Given the description of an element on the screen output the (x, y) to click on. 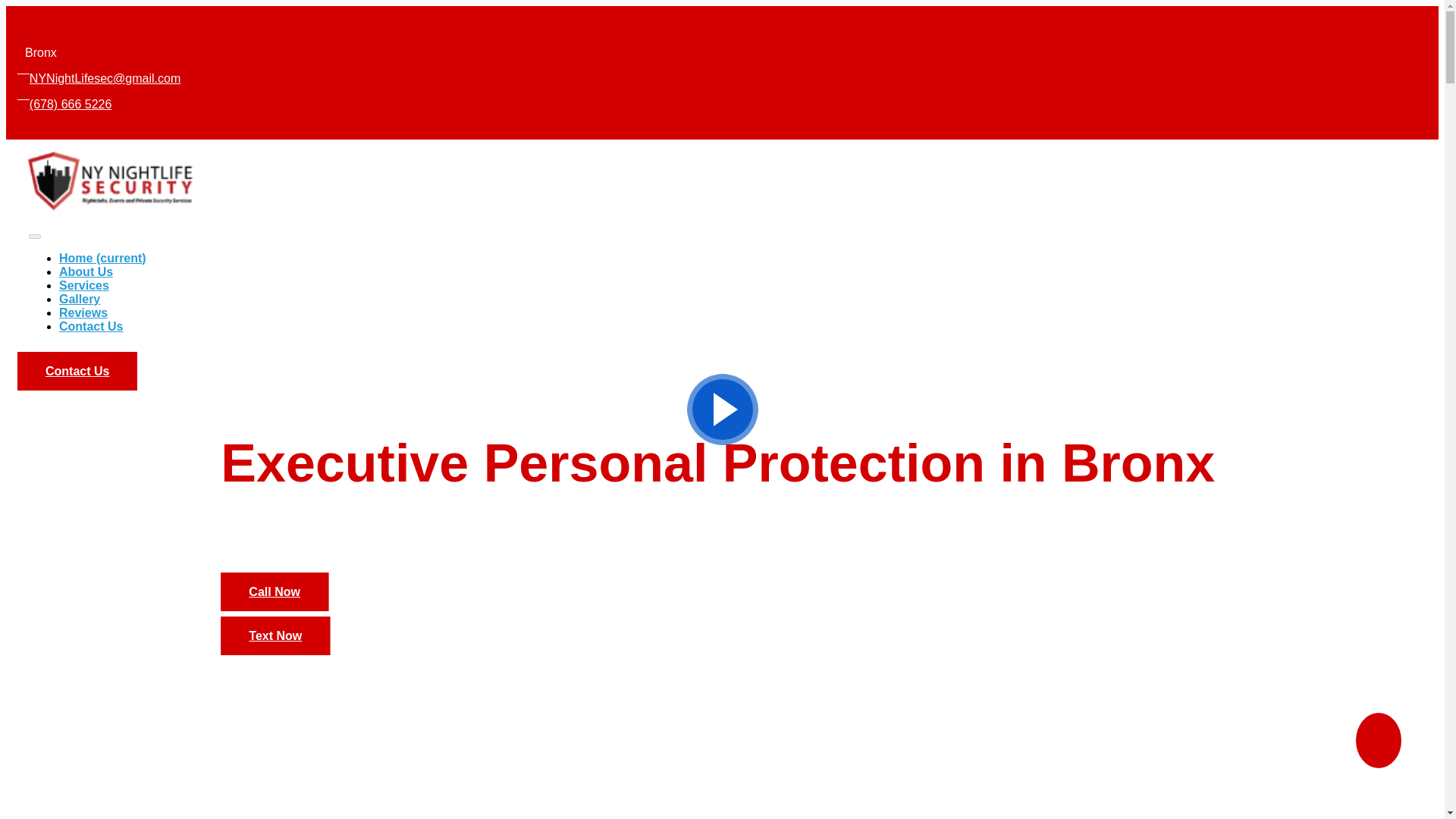
Contact Us (90, 326)
Text Now (275, 635)
Call Now (275, 591)
Gallery (79, 298)
Reviews (83, 312)
About Us (86, 271)
Contact Us (90, 326)
Reviews (83, 312)
Gallery (79, 298)
About Us (86, 271)
